Given the description of an element on the screen output the (x, y) to click on. 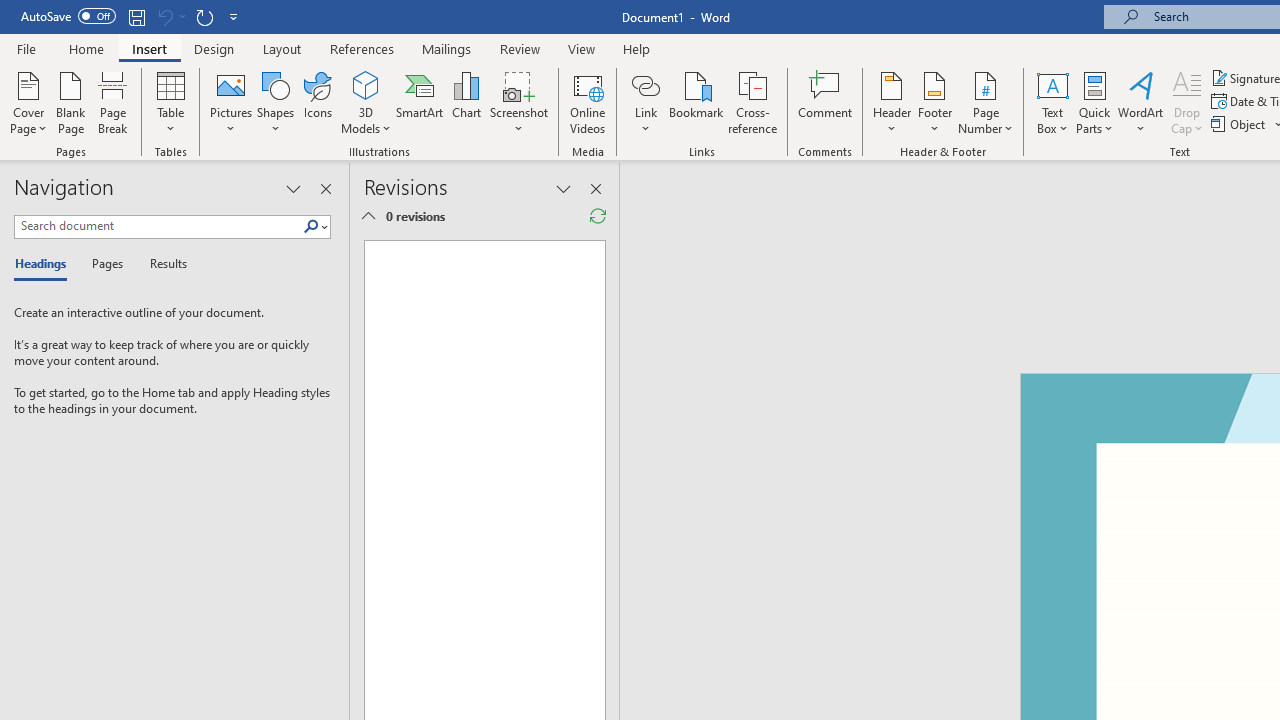
Cross-reference... (752, 102)
Can't Undo (170, 15)
WordArt (1141, 102)
Blank Page (70, 102)
Bookmark... (695, 102)
